Given the description of an element on the screen output the (x, y) to click on. 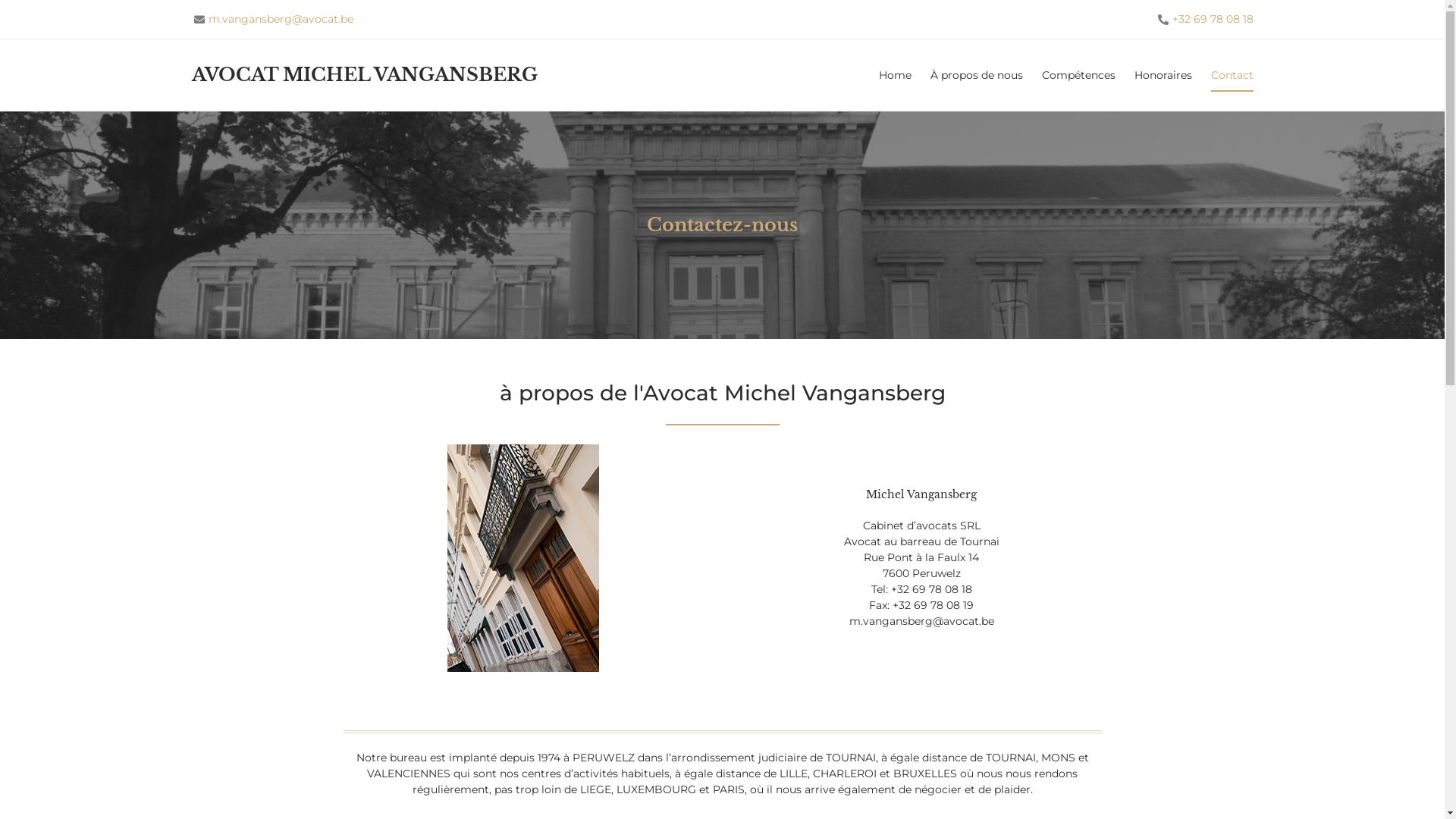
Tel: +32 69 78 08 18 Element type: text (920, 589)
m.vangansberg@avocat.be Element type: text (272, 19)
m.vangansberg@avocat.be Element type: text (921, 621)
Contact Element type: text (1231, 74)
AVOCAT MICHEL VANGANSBERG Element type: text (363, 74)
Honoraires Element type: text (1163, 74)
Home Element type: text (894, 74)
+32 69 78 08 18 Element type: text (1203, 19)
